Given the description of an element on the screen output the (x, y) to click on. 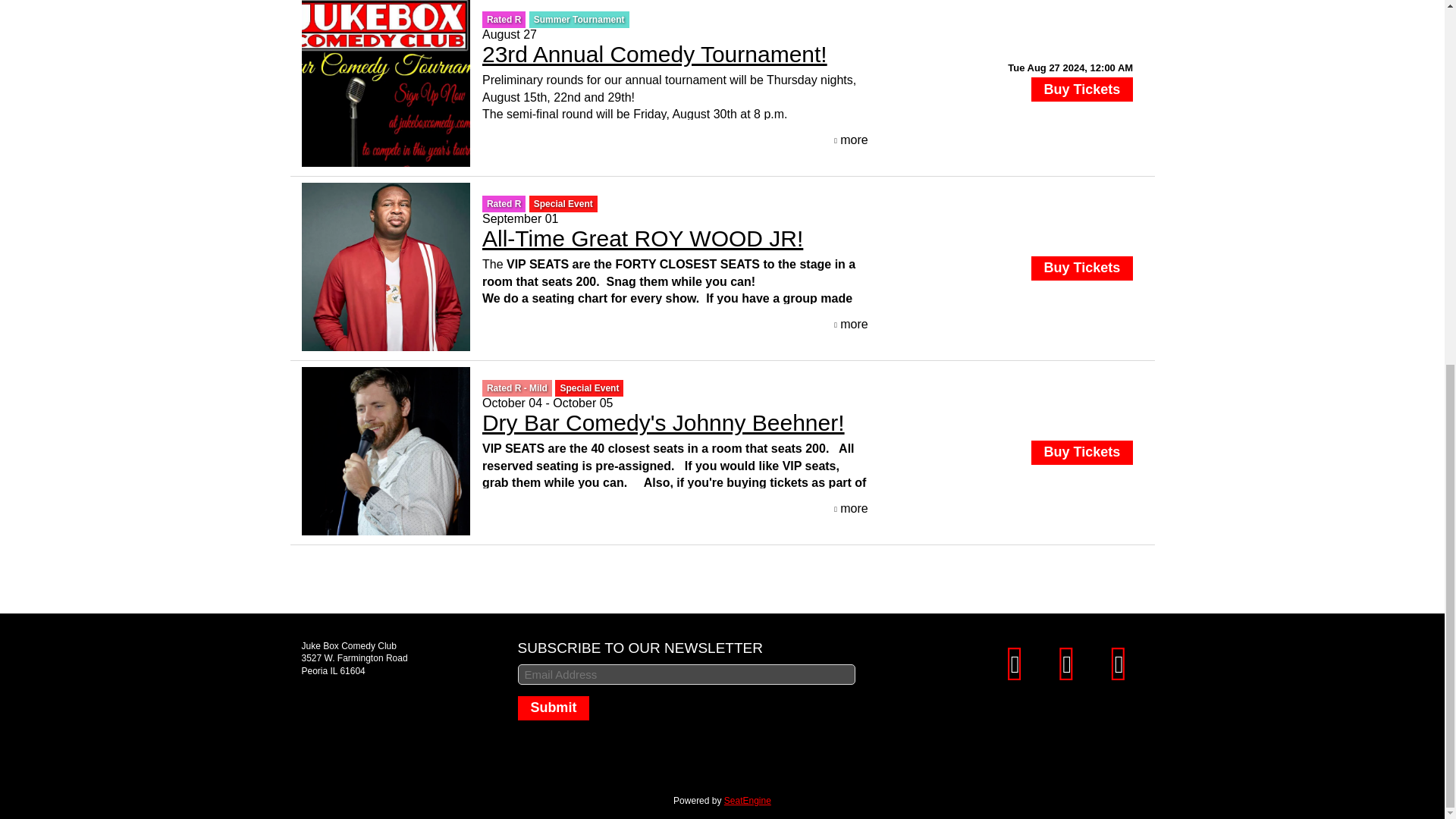
more (850, 324)
All-Time Great ROY WOOD JR! (642, 238)
Buy Tickets (1081, 88)
more (850, 140)
23rd Annual Comedy Tournament! (654, 53)
Buy Tickets (1081, 268)
